Given the description of an element on the screen output the (x, y) to click on. 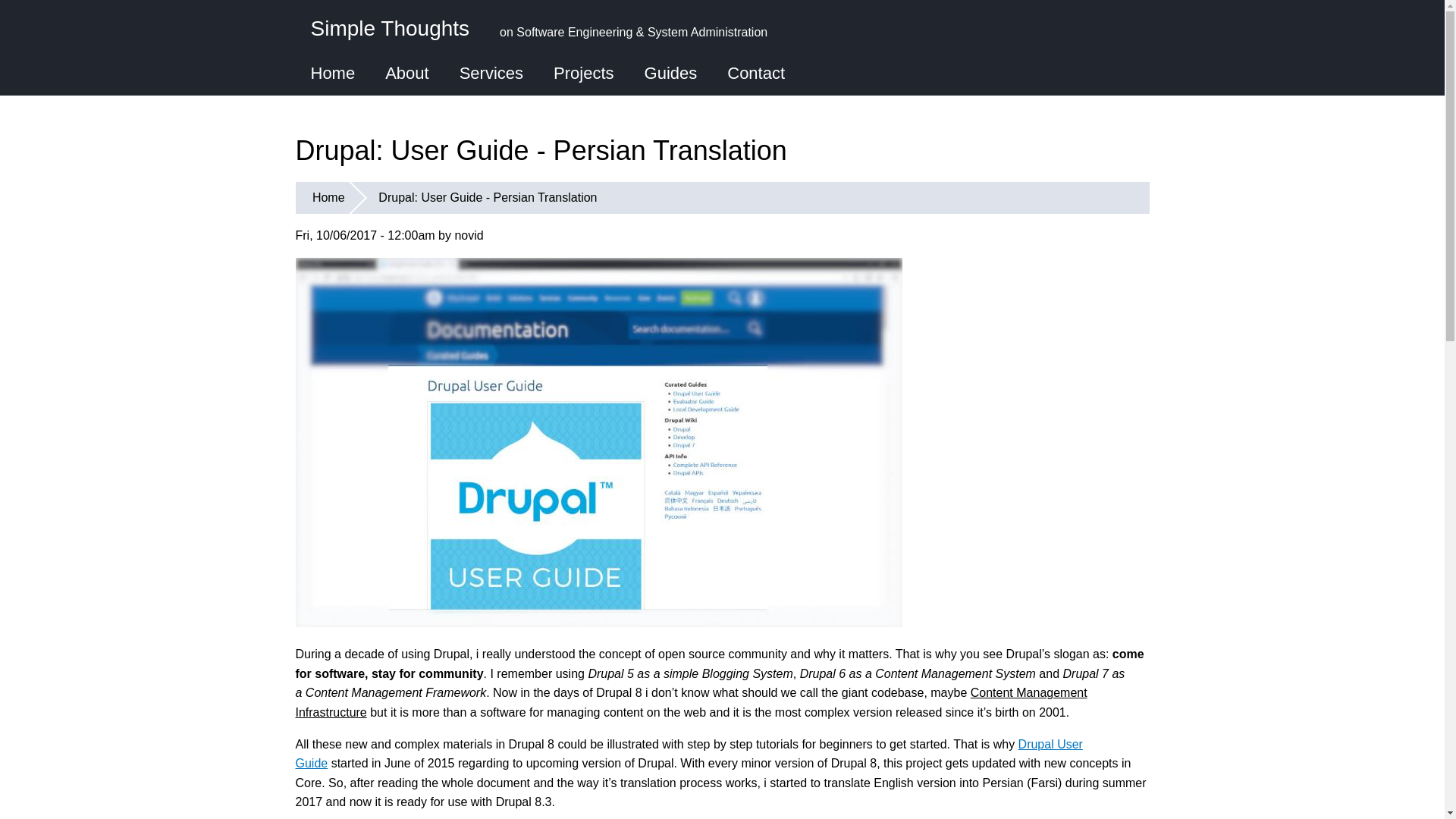
Guides (670, 73)
Simple Thoughts (389, 25)
Home (389, 25)
sweet ... (333, 73)
Home (328, 197)
get in touch with me ... (755, 73)
Services (491, 73)
Home (333, 73)
Projects (583, 73)
